Given the description of an element on the screen output the (x, y) to click on. 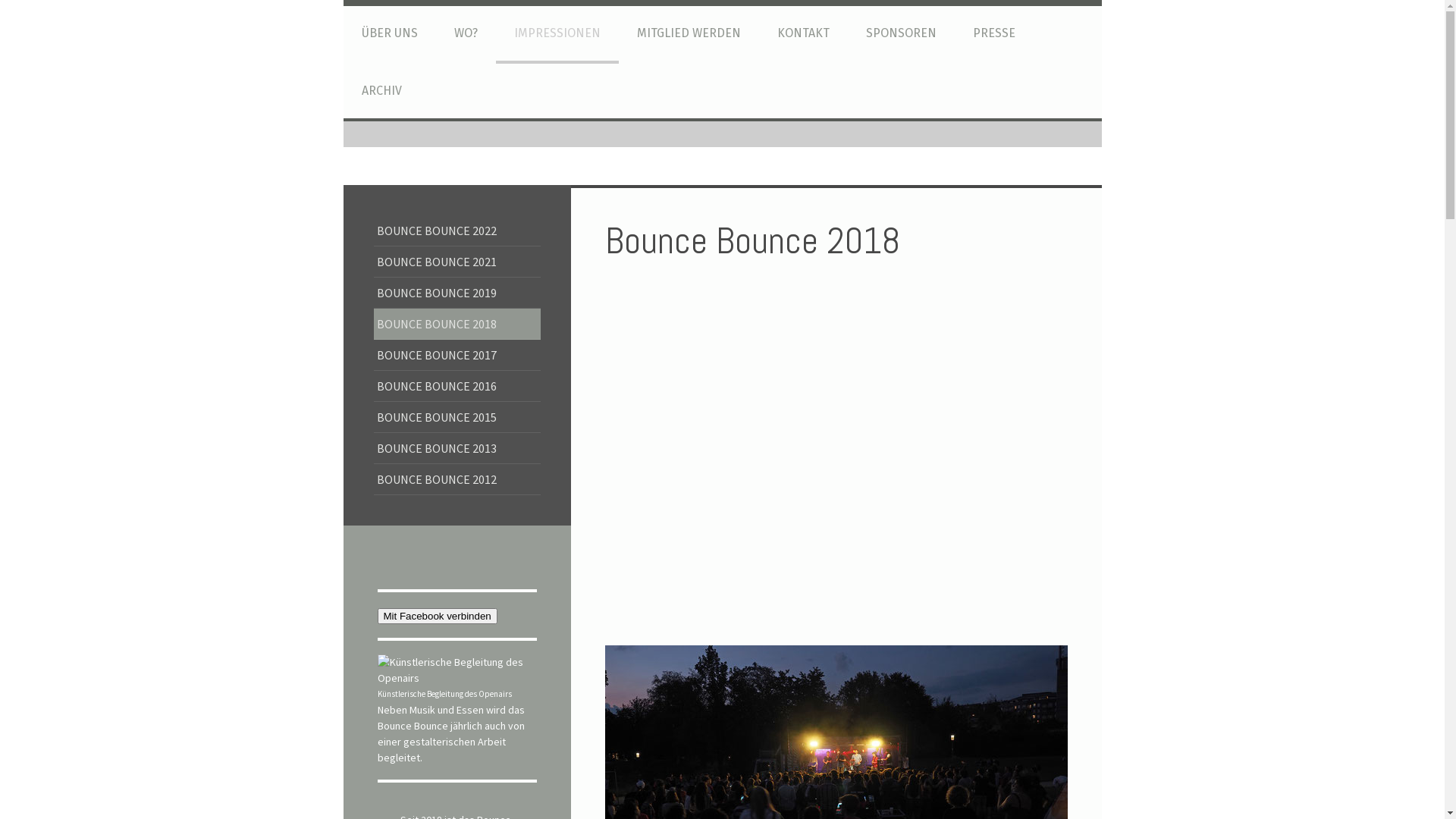
Mit Facebook verbinden Element type: text (437, 616)
BOUNCE BOUNCE 2013 Element type: text (456, 448)
PRESSE Element type: text (992, 34)
BOUNCE BOUNCE 2016 Element type: text (456, 385)
BOUNCE BOUNCE 2021 Element type: text (456, 261)
ARCHIV Element type: text (380, 92)
IMPRESSIONEN Element type: text (556, 34)
BOUNCE BOUNCE 2017 Element type: text (456, 354)
BOUNCE BOUNCE 2018 Element type: text (456, 323)
KONTAKT Element type: text (802, 34)
WO? Element type: text (465, 34)
BOUNCE BOUNCE 2019 Element type: text (456, 292)
MITGLIED WERDEN Element type: text (688, 34)
BOUNCE BOUNCE 2022 Element type: text (456, 230)
BOUNCE BOUNCE 2012 Element type: text (456, 479)
SPONSOREN Element type: text (900, 34)
BOUNCE BOUNCE 2015 Element type: text (456, 417)
